Given the description of an element on the screen output the (x, y) to click on. 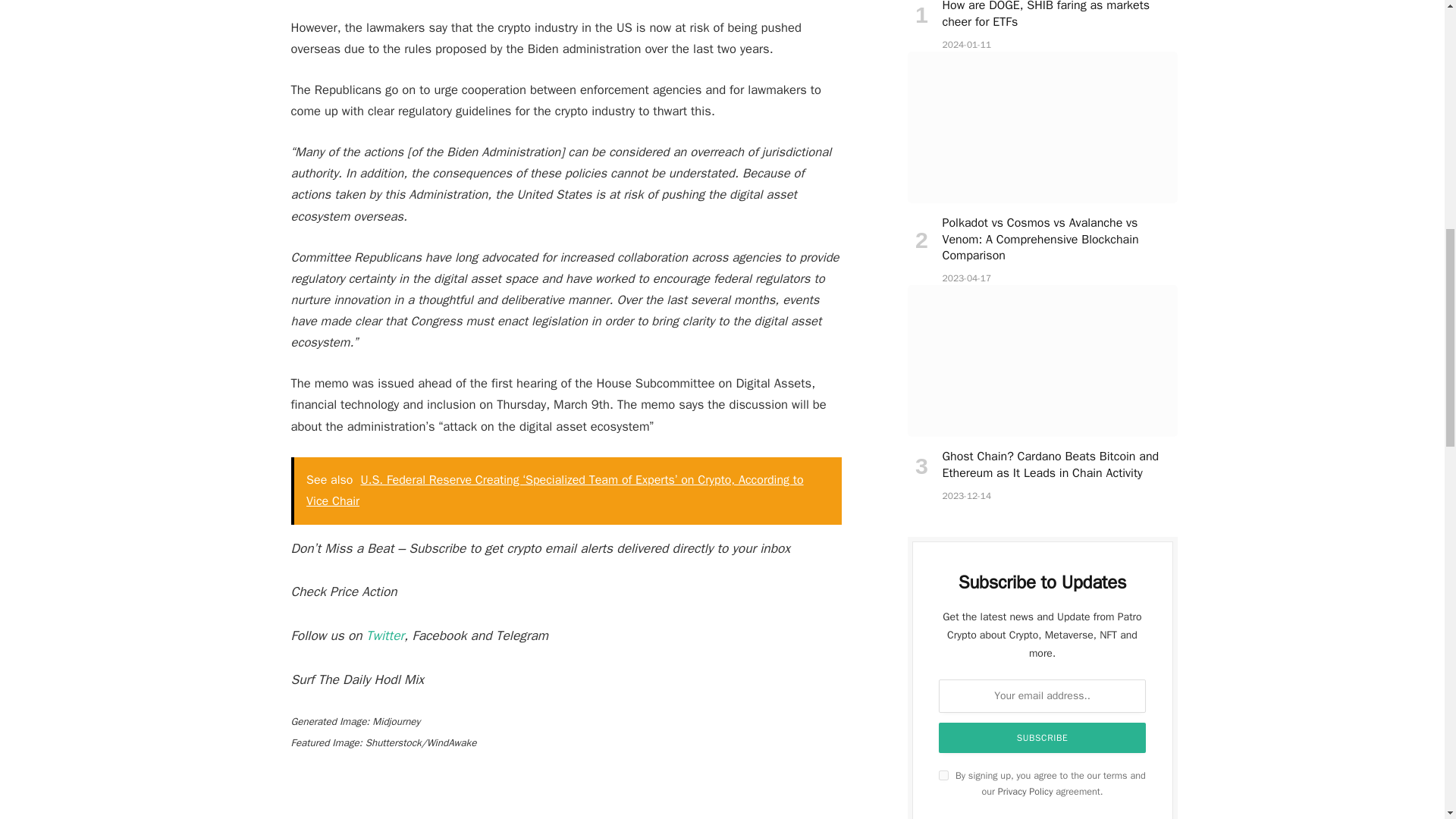
on (944, 775)
Subscribe (1043, 737)
